Given the description of an element on the screen output the (x, y) to click on. 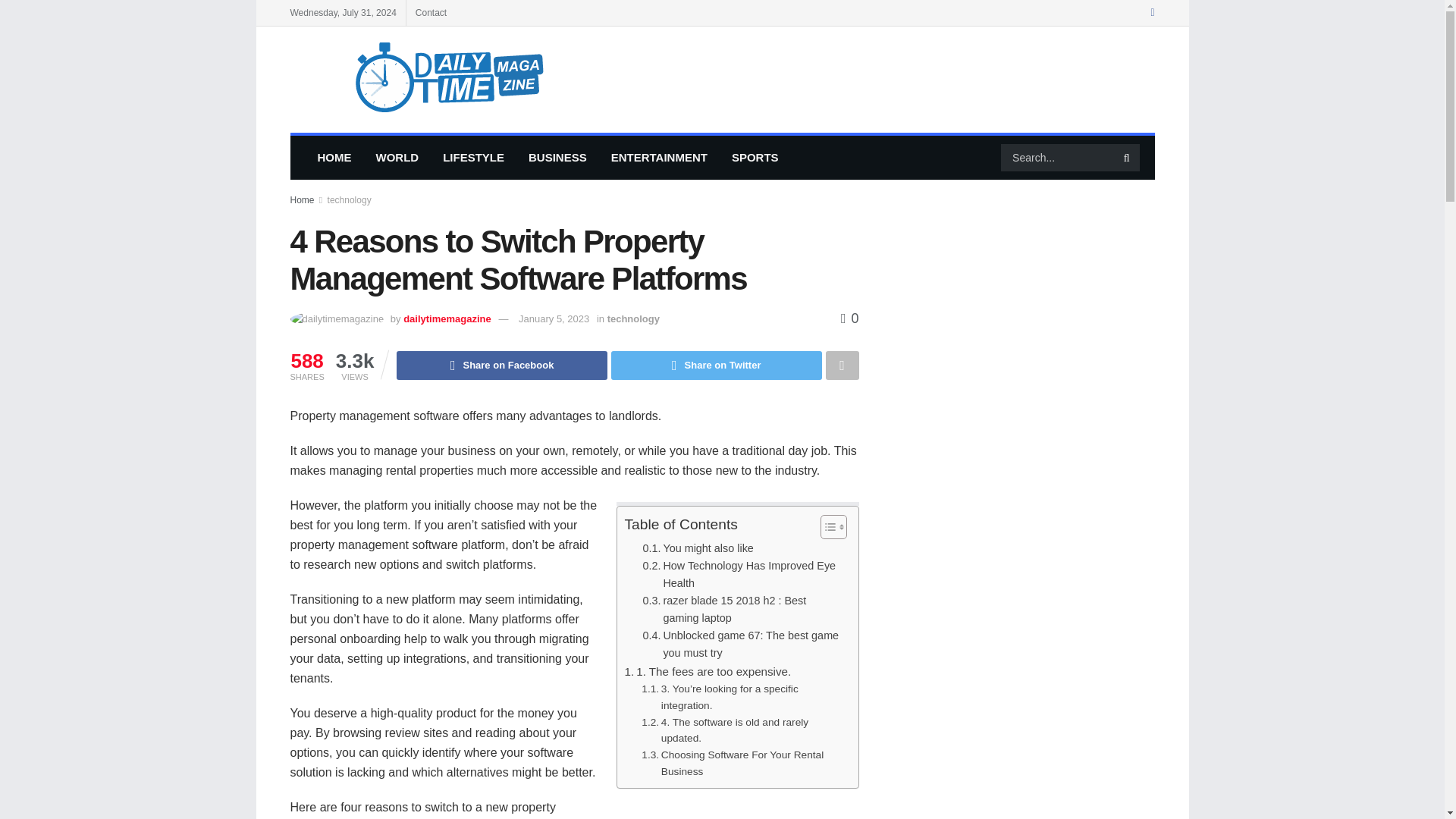
Contact (430, 12)
WORLD (397, 157)
HOME (333, 157)
LIFESTYLE (473, 157)
